Given the description of an element on the screen output the (x, y) to click on. 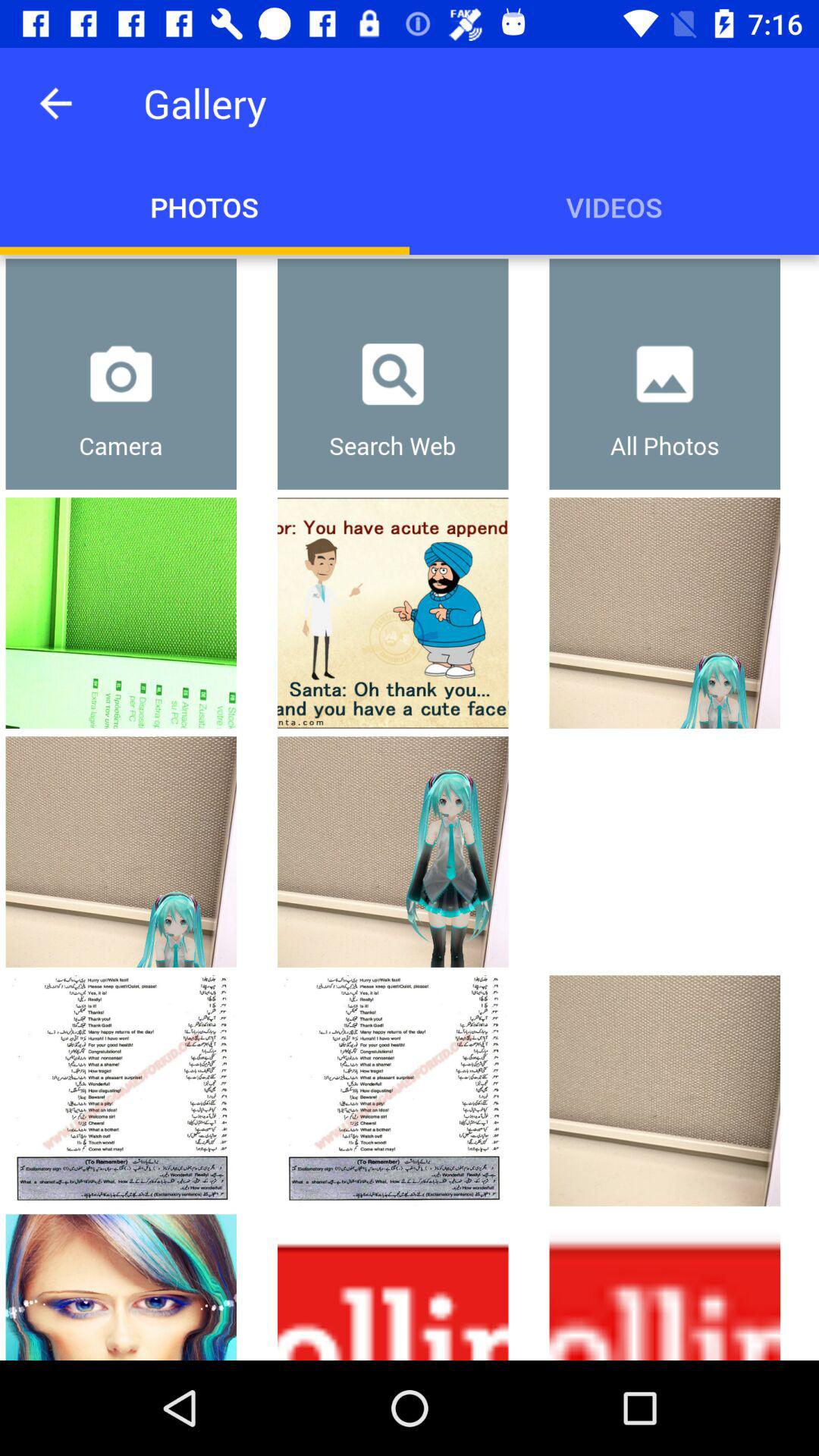
click on right of search web (664, 374)
click the second picture positioned vertically under the camera (120, 852)
click on image which is at bottom left (120, 1286)
